Given the description of an element on the screen output the (x, y) to click on. 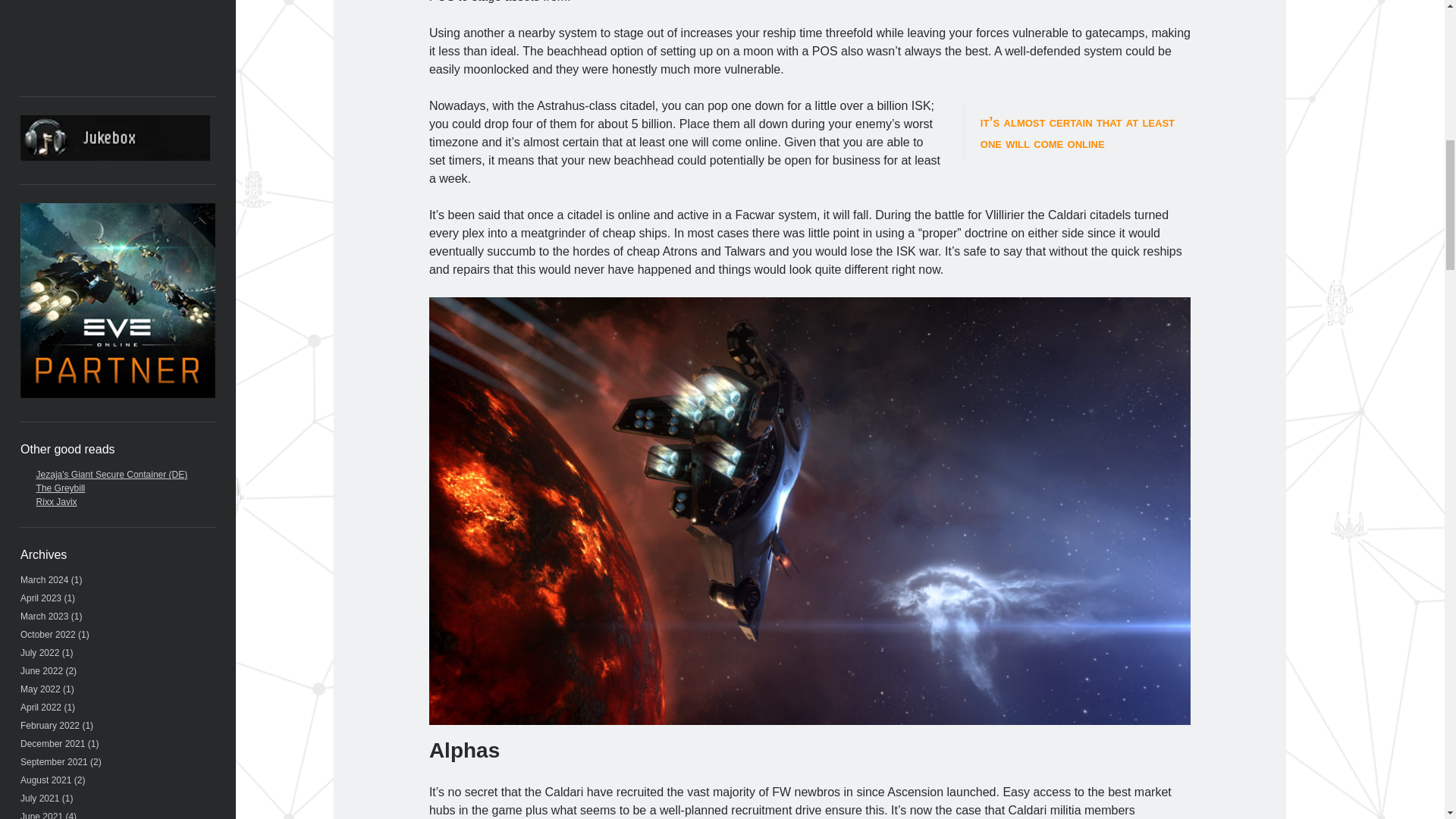
September 2021 (53, 761)
July 2022 (39, 652)
October 2022 (47, 634)
May 2022 (40, 688)
August 2021 (45, 779)
March 2024 (44, 579)
The Greybill (60, 488)
Rixx Javix (56, 501)
July 2021 (39, 798)
June 2021 (41, 815)
April 2023 (40, 597)
December 2021 (52, 743)
March 2023 (44, 615)
April 2022 (40, 706)
February 2022 (50, 725)
